Given the description of an element on the screen output the (x, y) to click on. 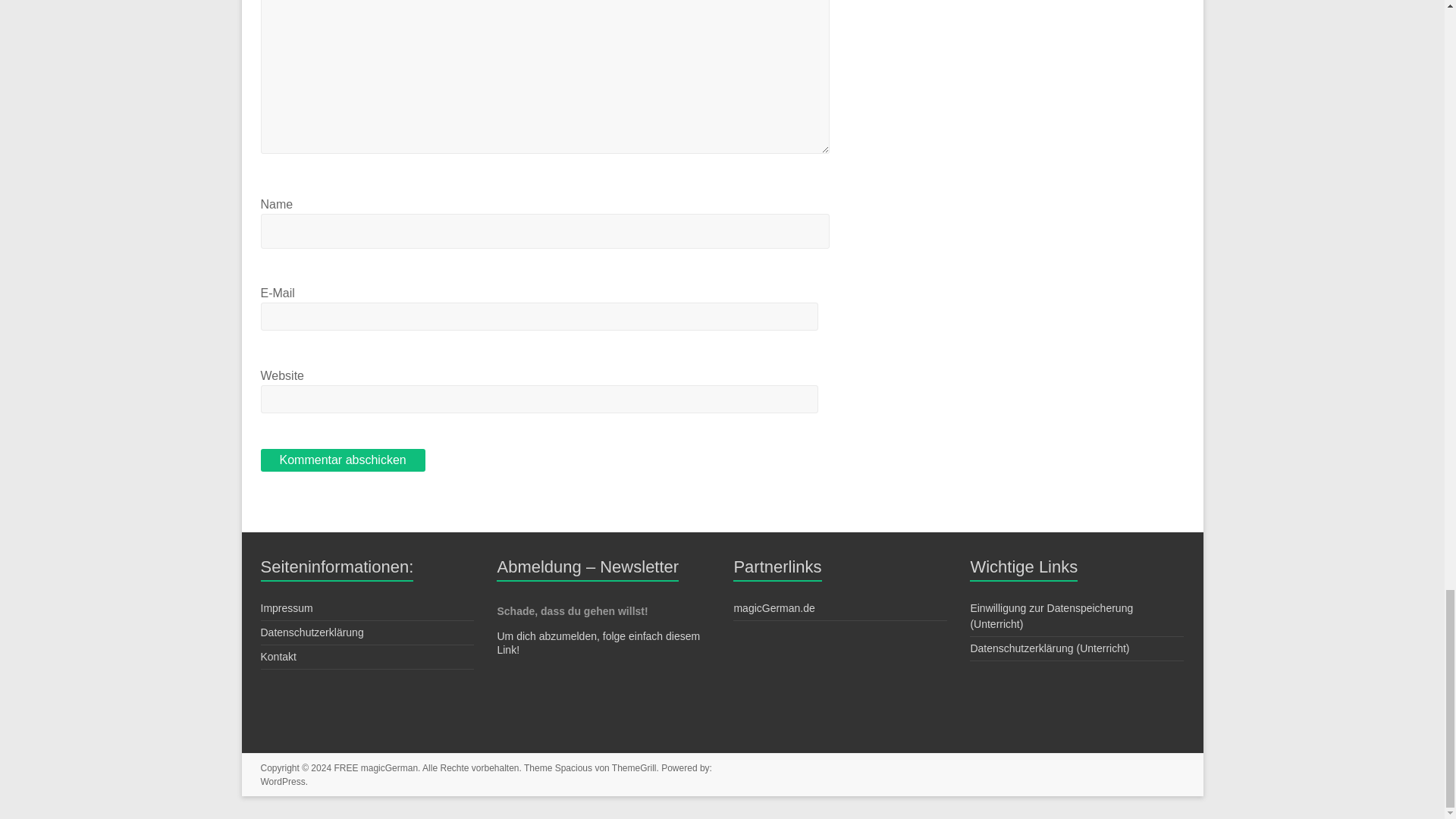
WordPress (282, 781)
Spacious (573, 767)
FREE magicGerman (375, 767)
Kommentar abschicken (342, 459)
